Given the description of an element on the screen output the (x, y) to click on. 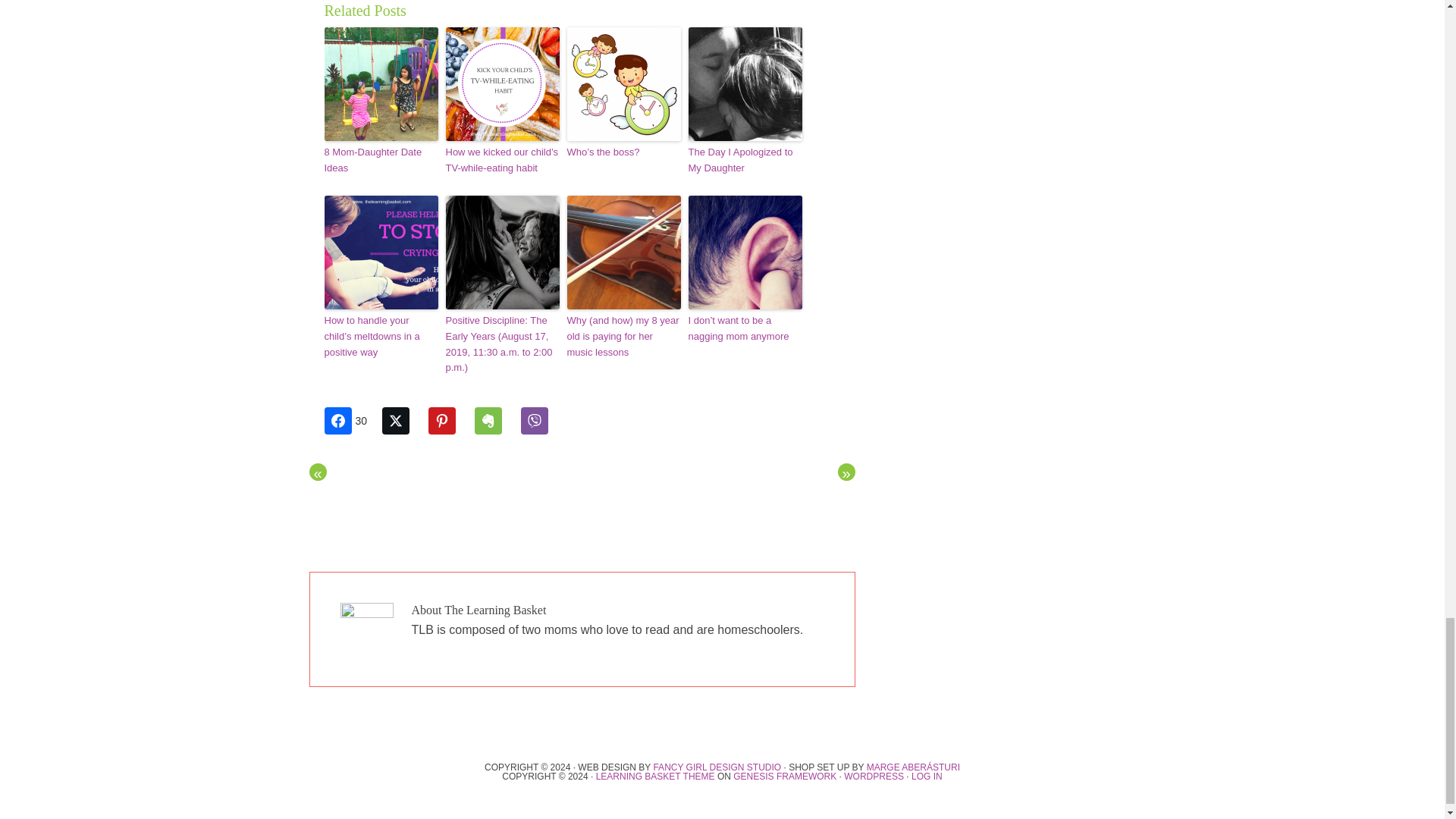
Share on Facebook (351, 420)
Share on Twitter (403, 420)
Share on Viber (542, 420)
Previous Post: 5 Ways to Explore Ancient Egypt (317, 471)
Share on Pinterest (449, 420)
Share on Evernote (495, 420)
